Given the description of an element on the screen output the (x, y) to click on. 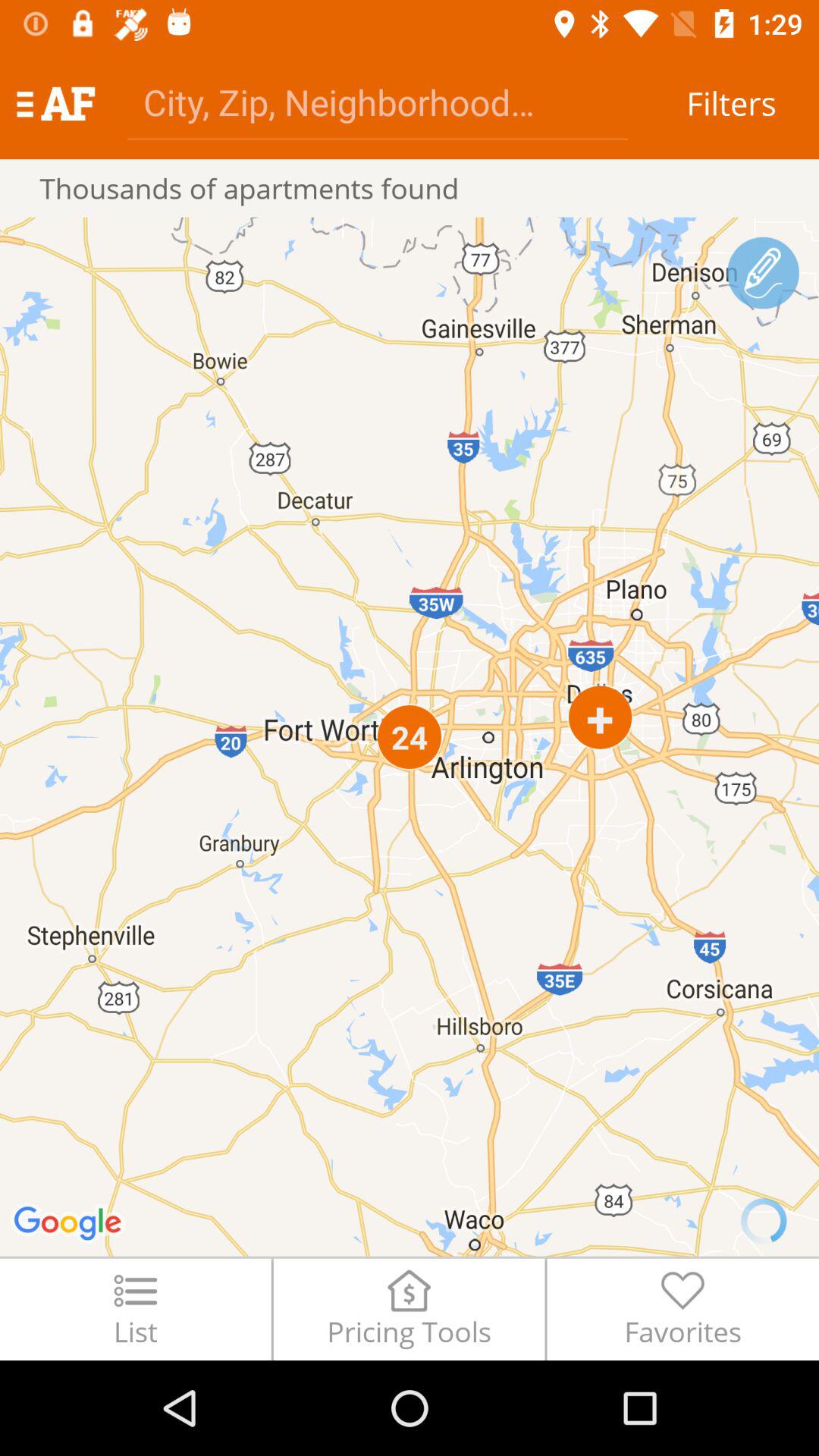
choose icon to the right of list (408, 1309)
